Given the description of an element on the screen output the (x, y) to click on. 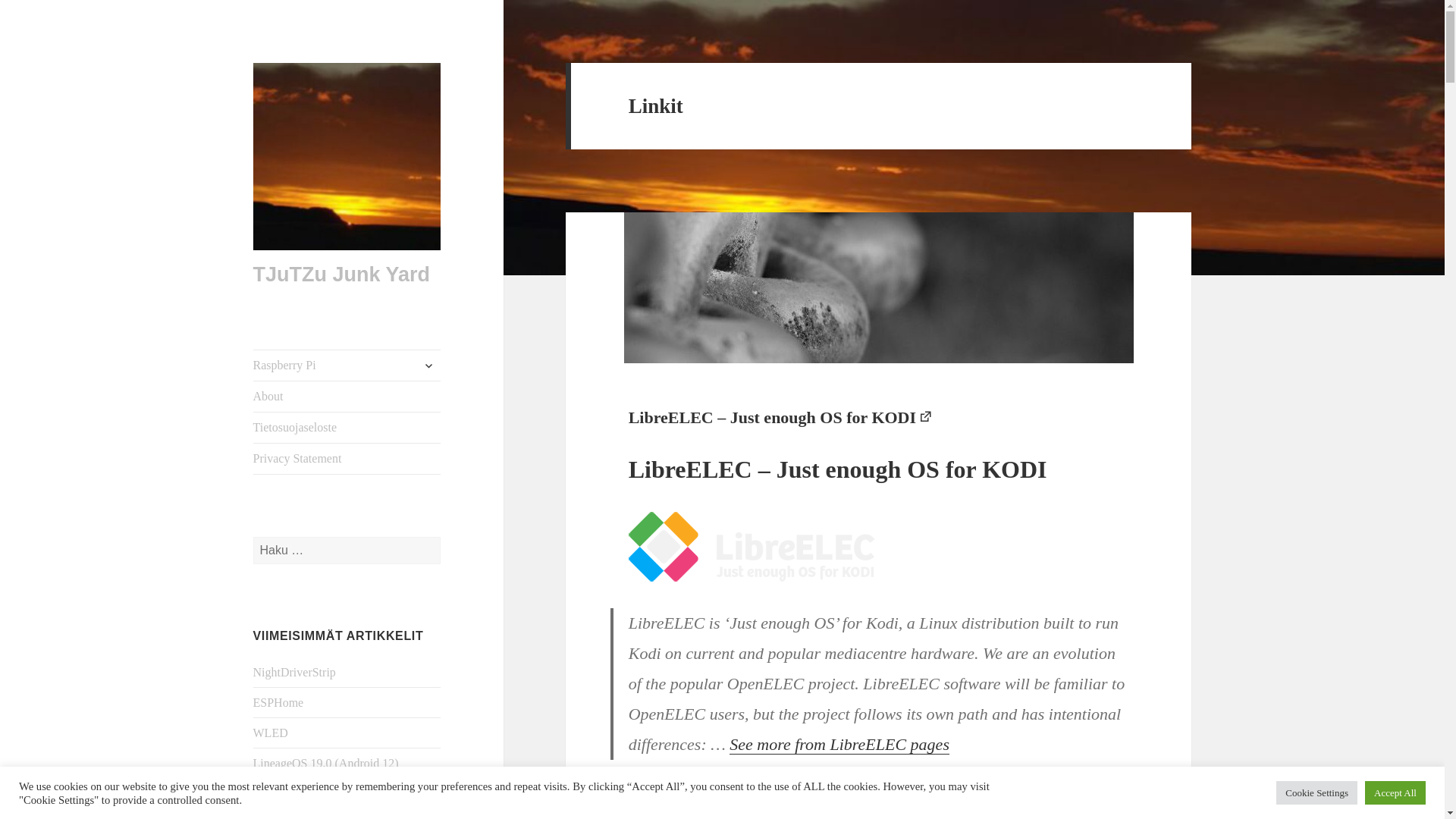
ESPHome (278, 702)
About (347, 396)
TJuTZu Junk Yard (341, 273)
Raspberry Pi (347, 365)
See more from LibreELEC pages (839, 744)
WLED (270, 732)
Privacy Statement (347, 458)
Tietosuojaseloste (347, 427)
NightDriverStrip (294, 671)
ModBros (275, 811)
